Given the description of an element on the screen output the (x, y) to click on. 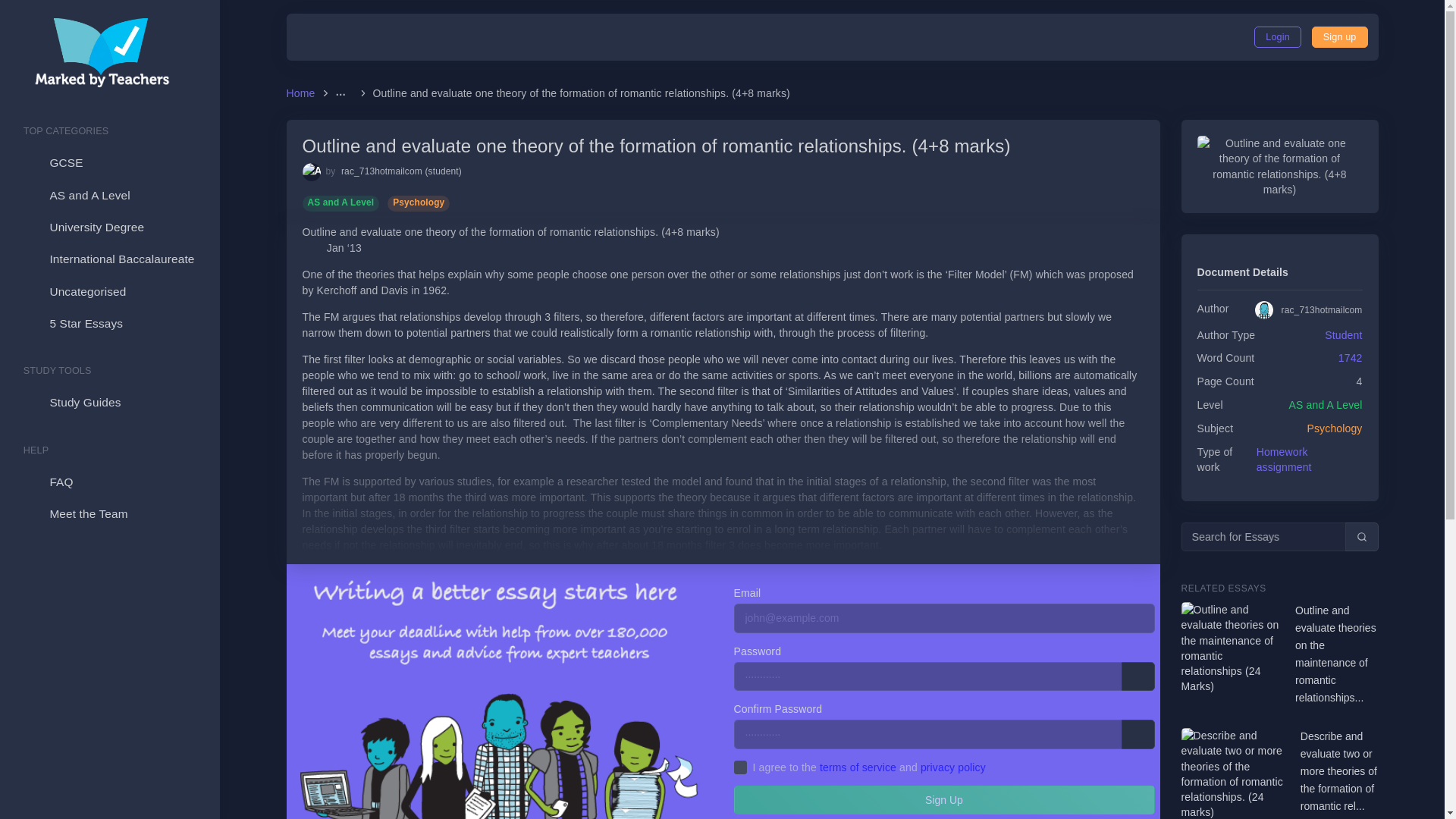
Home (302, 92)
Home (302, 92)
International Baccalaureate (109, 259)
Login (1277, 36)
Quick search (1361, 536)
GCSE (109, 163)
Study Guides (109, 402)
Psychology (418, 201)
University Degree (109, 227)
FAQ (109, 481)
